Given the description of an element on the screen output the (x, y) to click on. 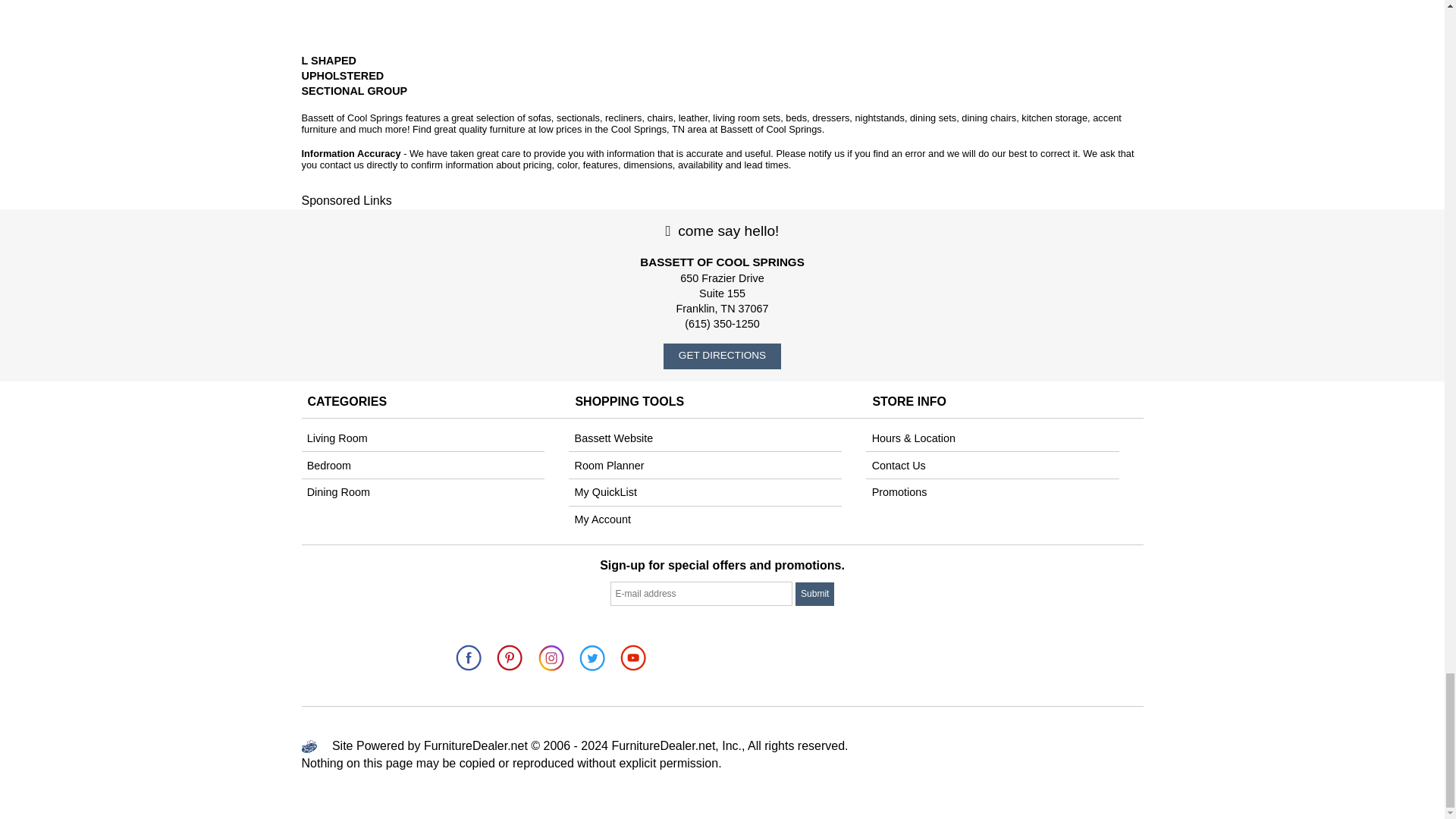
Submit (814, 594)
